Given the description of an element on the screen output the (x, y) to click on. 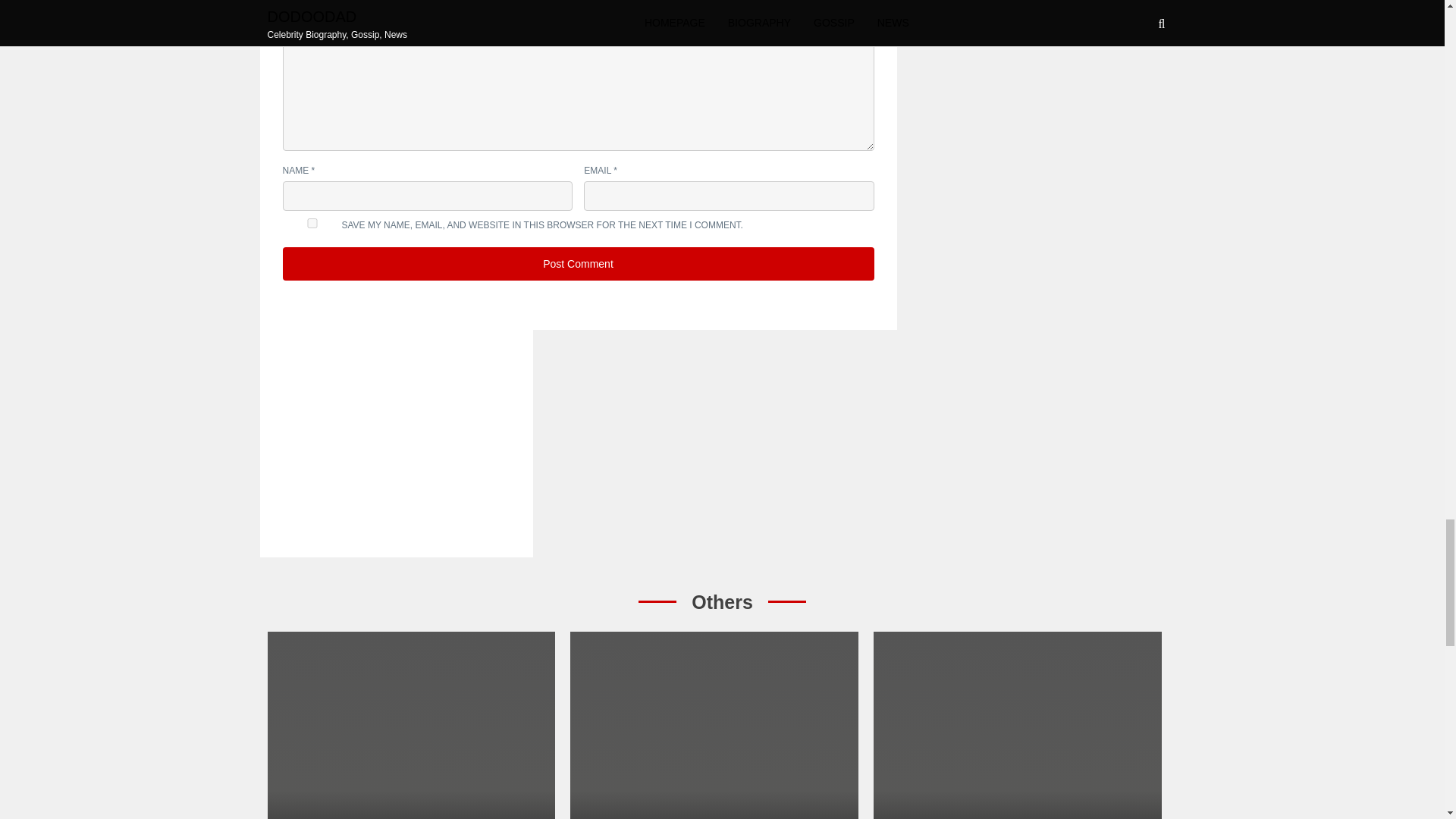
Post Comment (577, 263)
yes (714, 725)
Post Comment (311, 223)
